Given the description of an element on the screen output the (x, y) to click on. 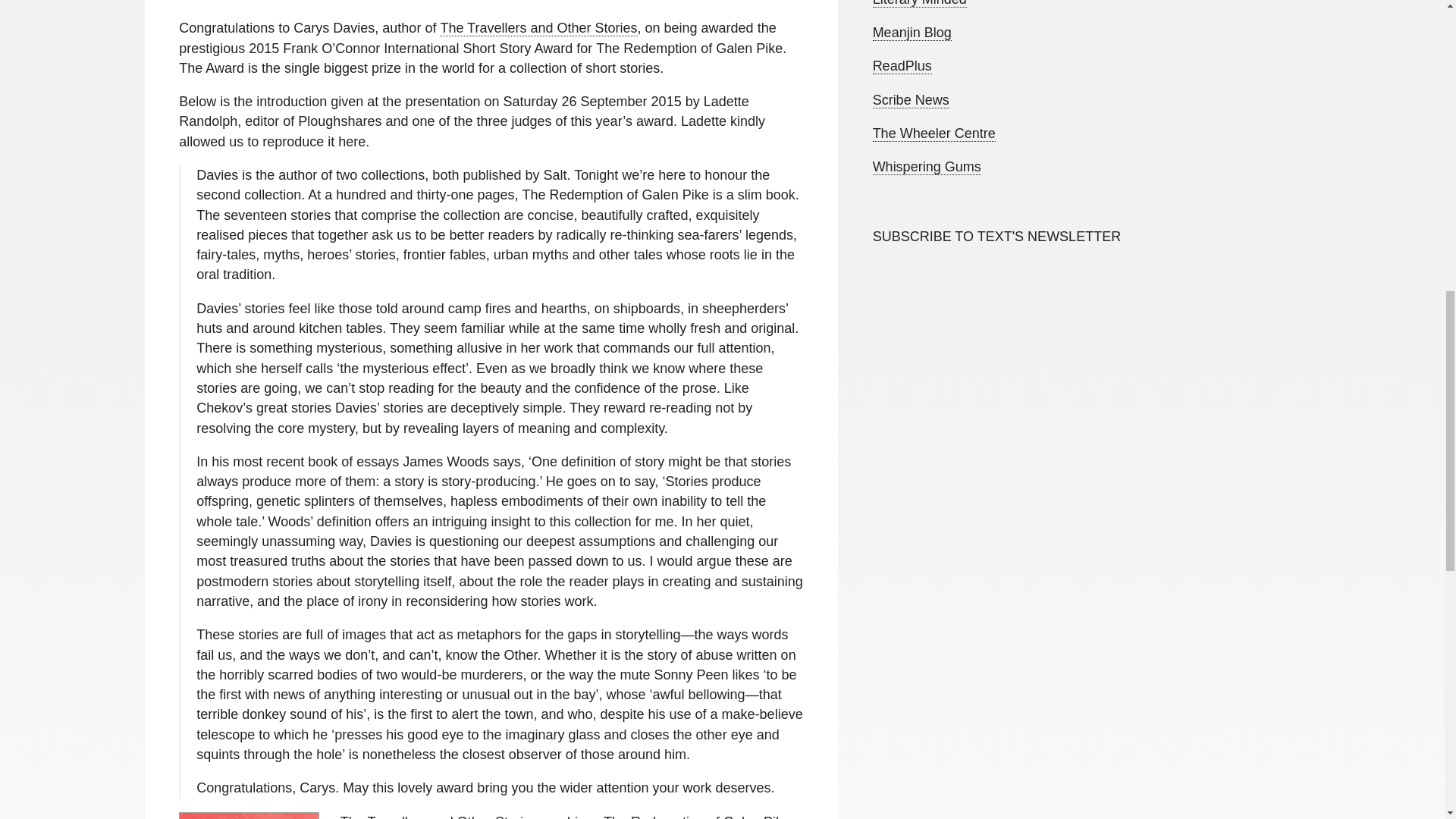
The Travellers and Other Stories (538, 28)
